Given the description of an element on the screen output the (x, y) to click on. 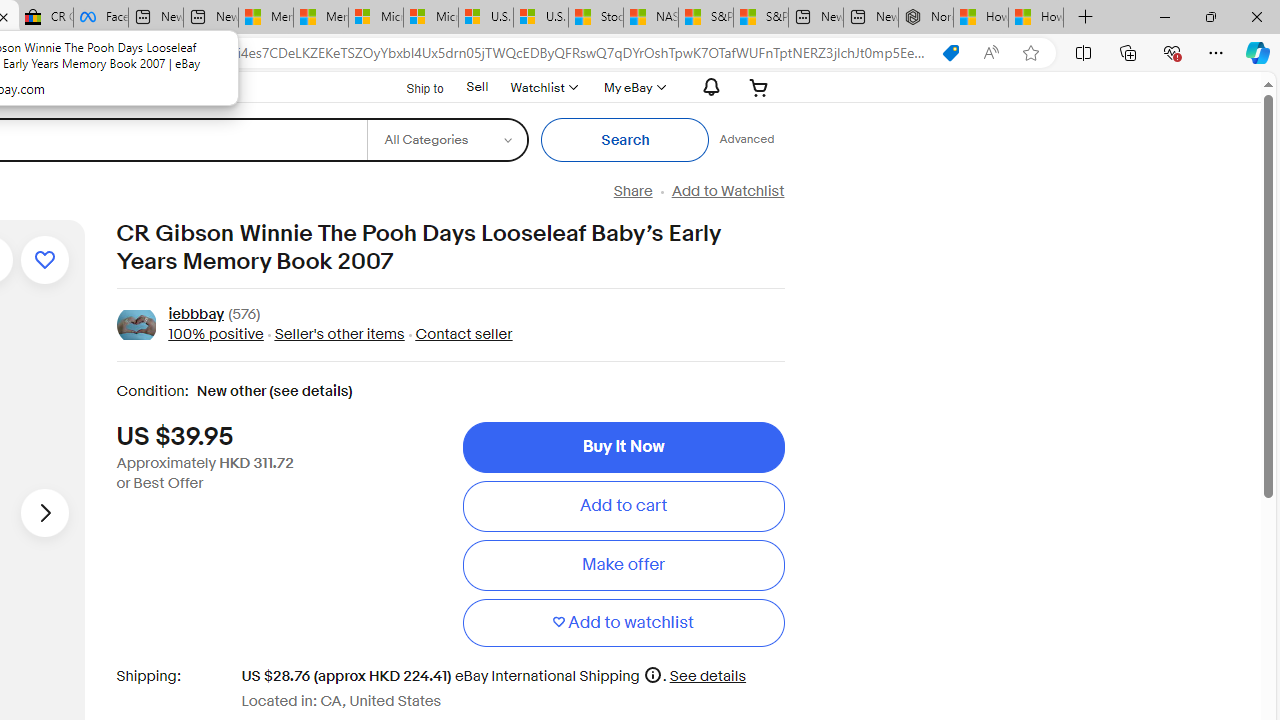
Buy It Now (623, 447)
Add to cart (623, 506)
  Contact seller (458, 334)
Select a category for search (447, 139)
S&P 500, Nasdaq end lower, weighed by Nvidia dip | Watch (760, 17)
Sell (476, 87)
Next image - Item images thumbnails (44, 512)
My eBay (632, 87)
Settings and more (Alt+F) (1215, 52)
Add to cart (623, 506)
Close (1256, 16)
New tab (870, 17)
Add this page to favorites (Ctrl+D) (1030, 53)
Contact seller (463, 334)
Class: ux-action (136, 325)
